Given the description of an element on the screen output the (x, y) to click on. 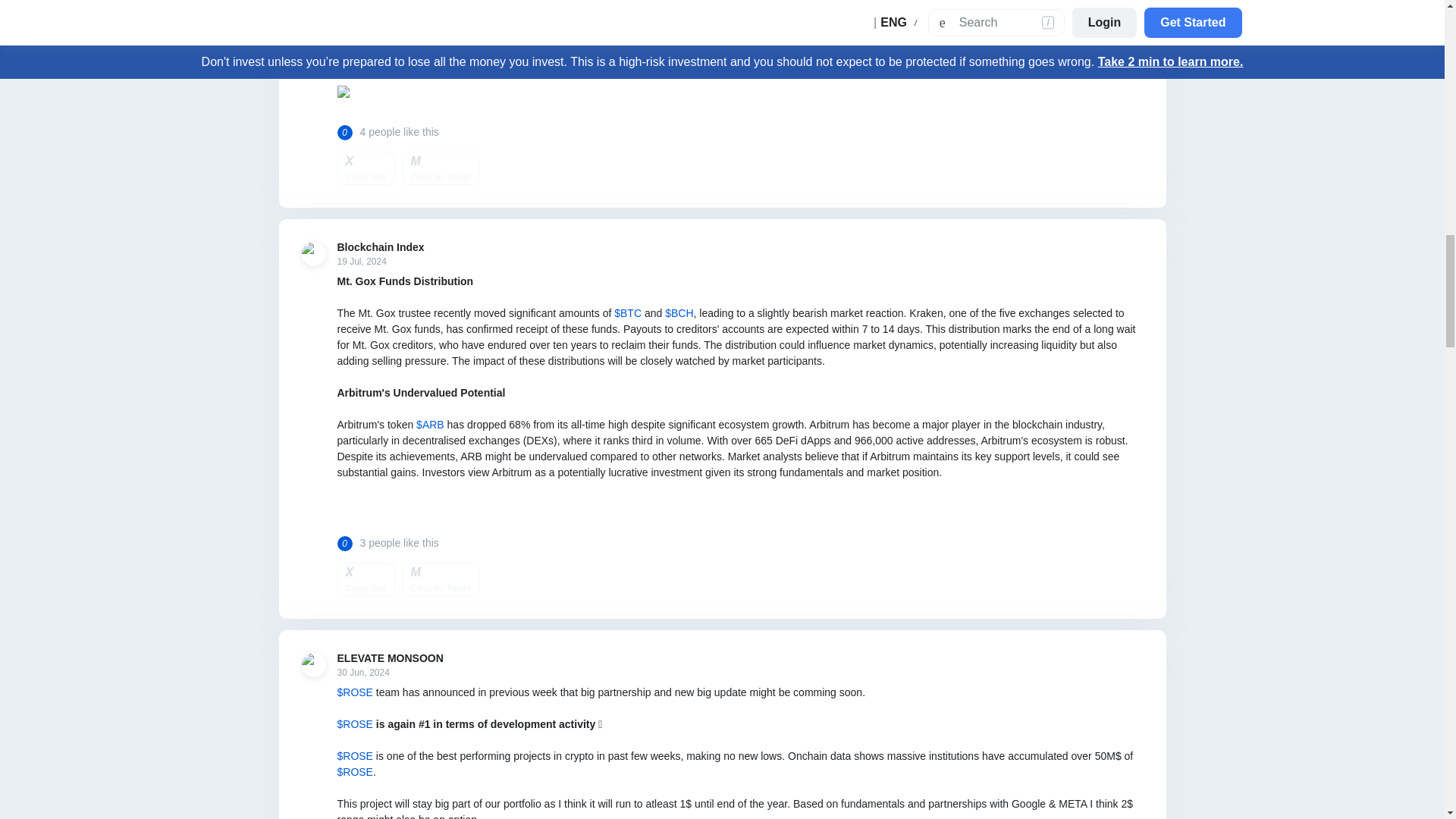
Jul 19, 2024, 10:38:23 AM (379, 261)
Jun 30, 2024, 10:21:18 PM (389, 672)
